Given the description of an element on the screen output the (x, y) to click on. 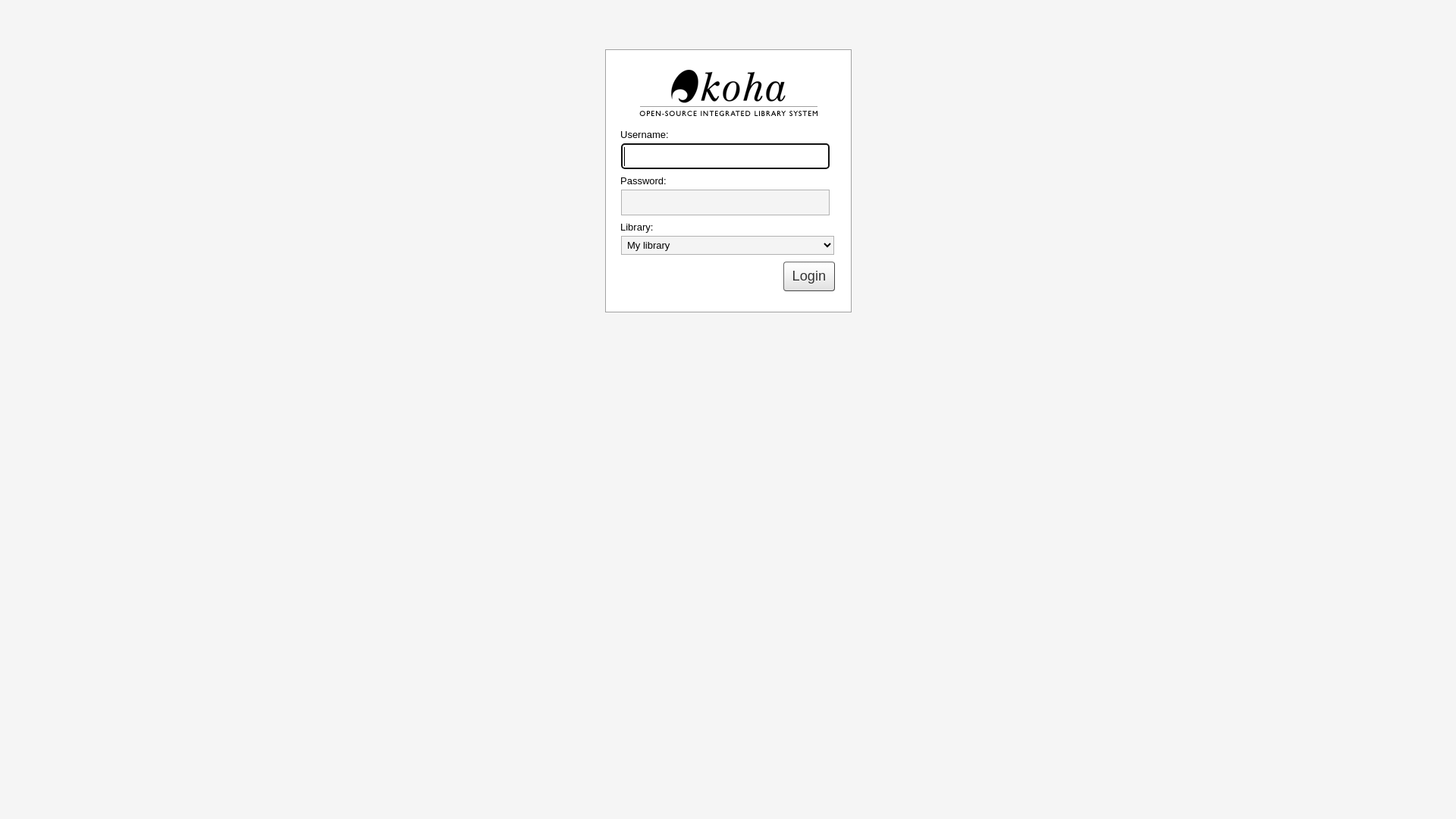
Login Element type: text (808, 276)
Koha Element type: text (727, 93)
